Given the description of an element on the screen output the (x, y) to click on. 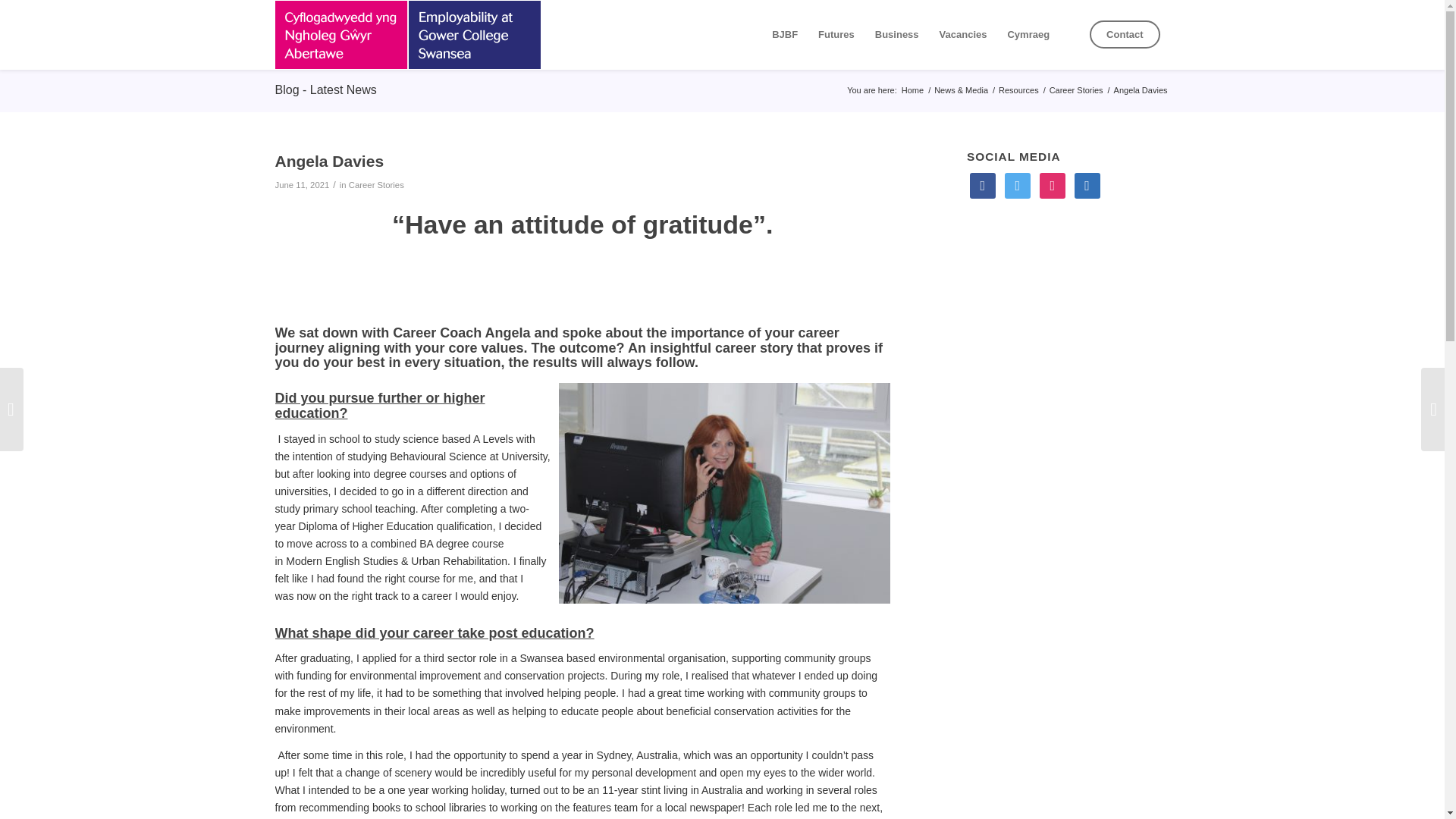
instagram (1052, 184)
Permanent Link: Blog - Latest News (325, 89)
Career Stories (376, 184)
Resources (1018, 90)
Contact (1129, 34)
facebook (982, 184)
Career Stories (1075, 90)
employability-x2 (407, 34)
Blog - Latest News (325, 89)
Home (912, 90)
Vacancies (962, 34)
Business (896, 34)
twitter (1017, 184)
Cymraeg (1027, 34)
Employability at Gower College Swansea (912, 90)
